Given the description of an element on the screen output the (x, y) to click on. 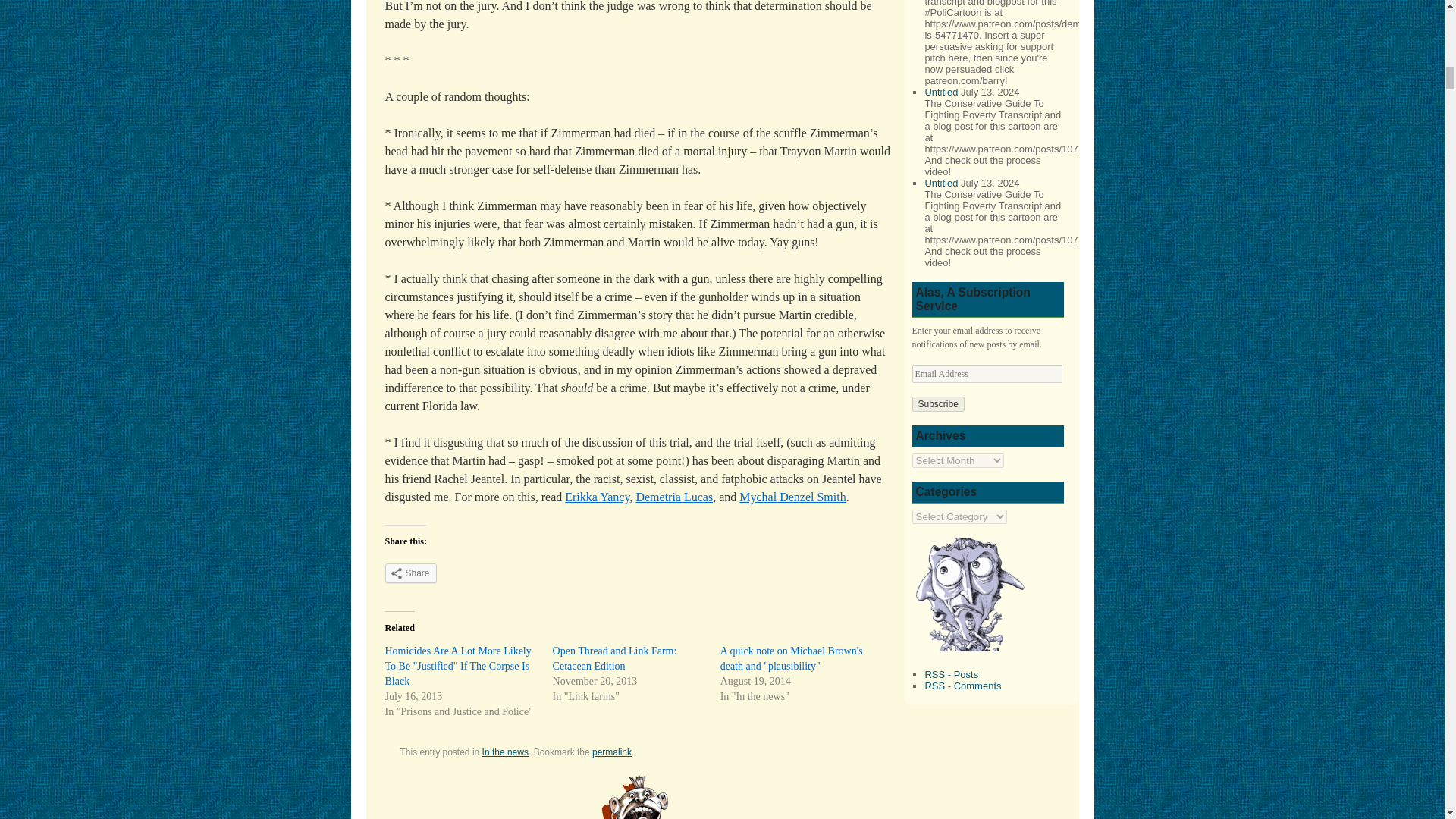
Open Thread and Link Farm: Cetacean Edition (615, 658)
Subscribe (937, 403)
Demetria Lucas (673, 496)
Mychal Denzel Smith (792, 496)
Erikka Yancy (596, 496)
Share (410, 573)
permalink (611, 751)
In the news (504, 751)
A quick note on Michael Brown's death and "plausibility" (791, 658)
